Given the description of an element on the screen output the (x, y) to click on. 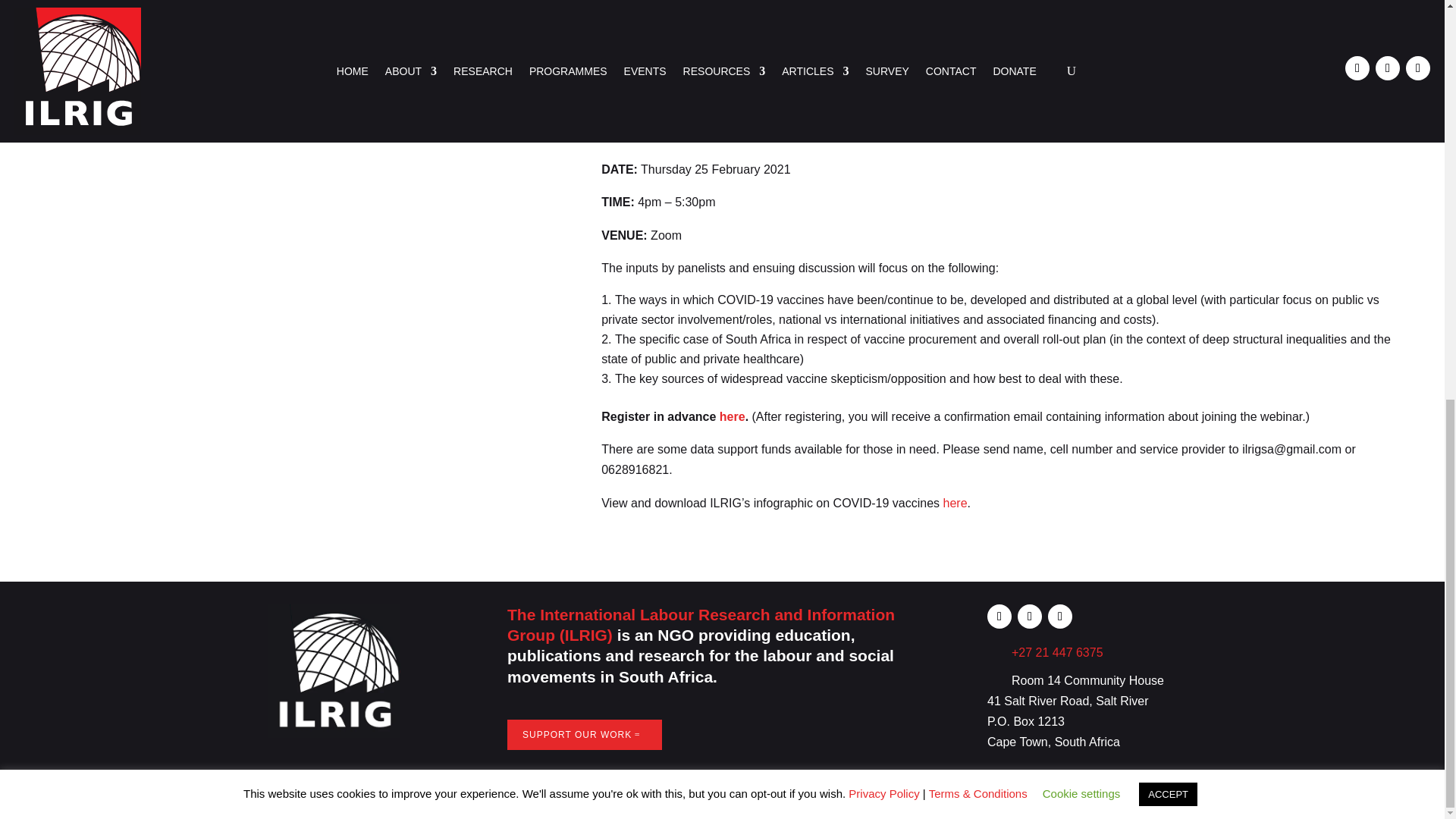
"Covid-19 vaccines: the new apartheid?" (1004, 57)
Follow on X (1029, 616)
Follow on Instagram (1059, 616)
Follow on Facebook (999, 616)
logobw (332, 671)
